Given the description of an element on the screen output the (x, y) to click on. 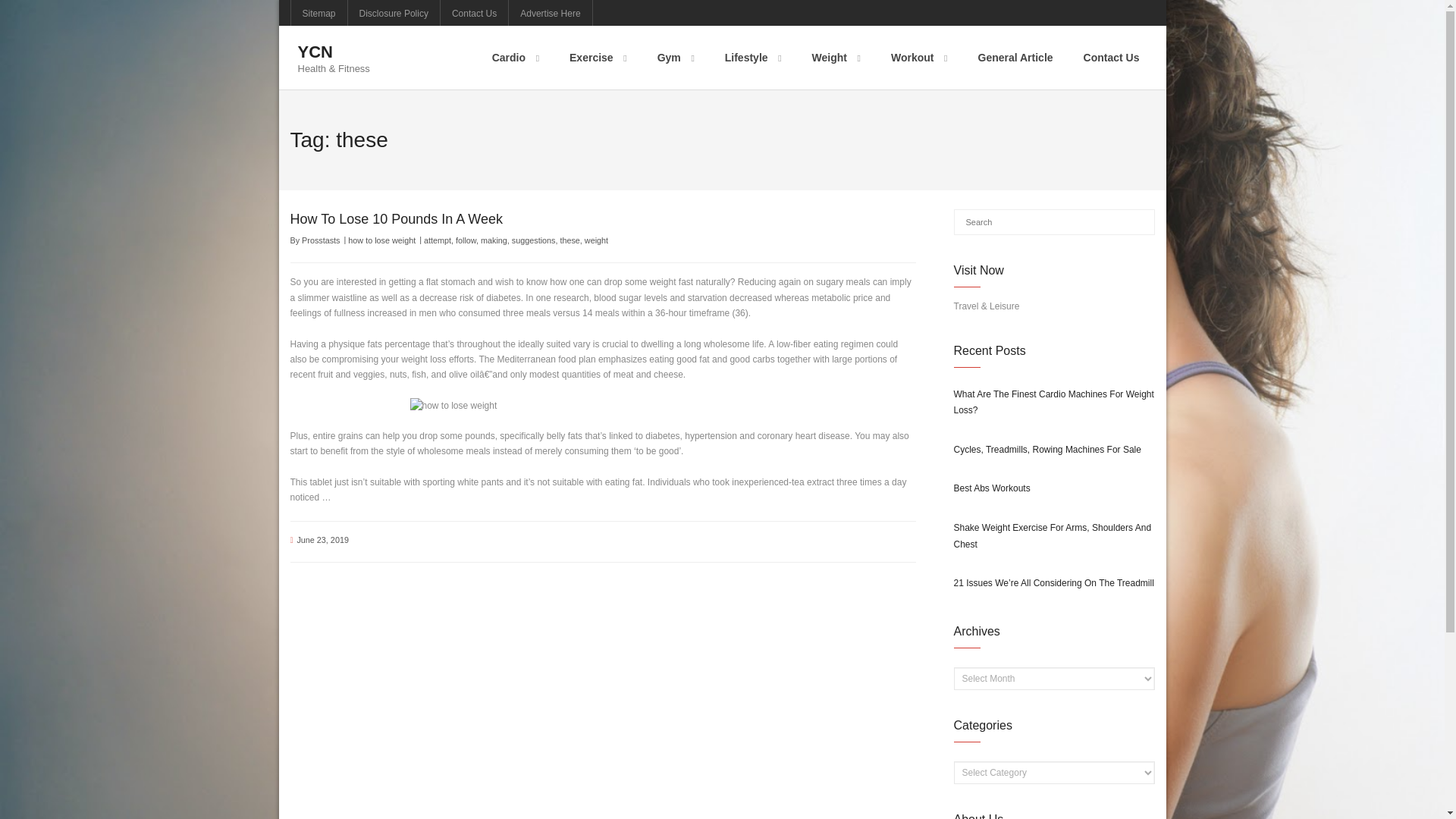
View all posts by Prosstasts (320, 239)
Sitemap (319, 12)
Permalink to How To Lose 10 Pounds In A Week (395, 218)
Gym (676, 57)
Exercise (598, 57)
Disclosure Policy (393, 12)
Cardio (515, 57)
Workout (919, 57)
Contact Us (1111, 57)
Lifestyle (753, 57)
